Given the description of an element on the screen output the (x, y) to click on. 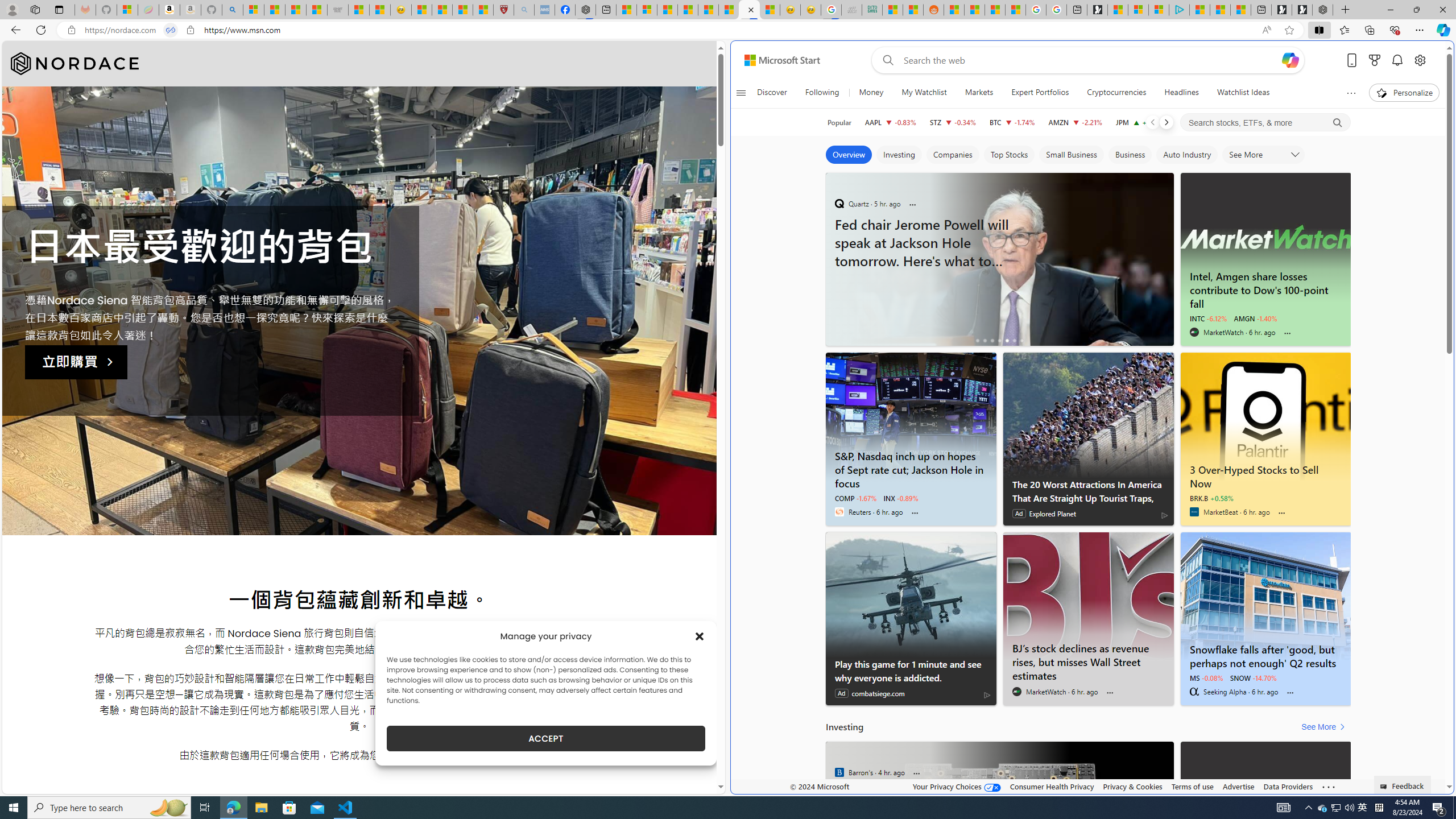
Show more topics (1349, 92)
ACCEPT (545, 738)
